Given the description of an element on the screen output the (x, y) to click on. 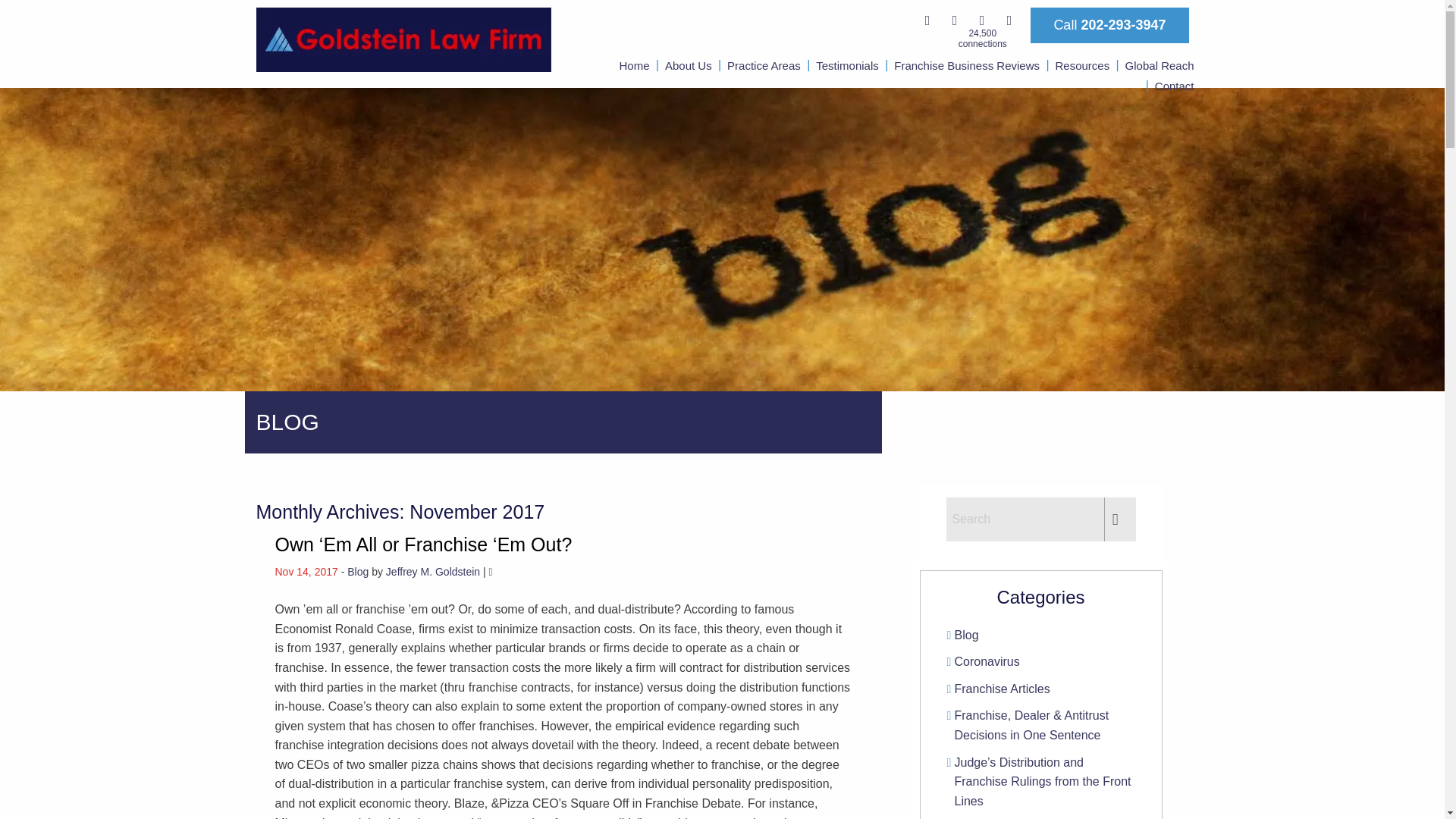
Posts by Jeffrey M. Goldstein (432, 571)
